Given the description of an element on the screen output the (x, y) to click on. 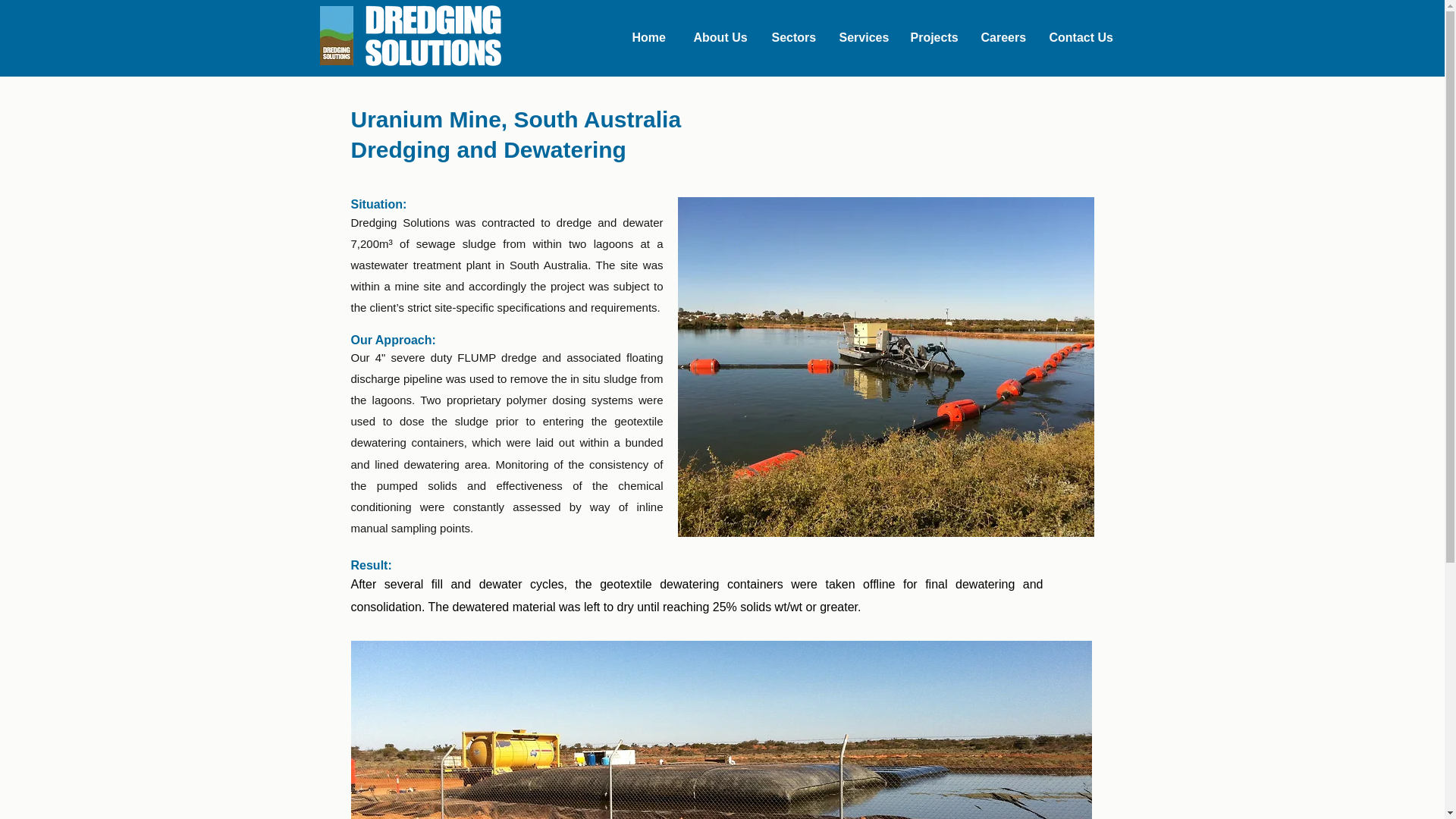
Careers (1008, 37)
About Us (723, 37)
Contact Us (1084, 37)
DS Full Logo Horizontal v1.png (431, 35)
Sectors (797, 37)
Home (654, 37)
Projects (937, 37)
Services (866, 37)
